Given the description of an element on the screen output the (x, y) to click on. 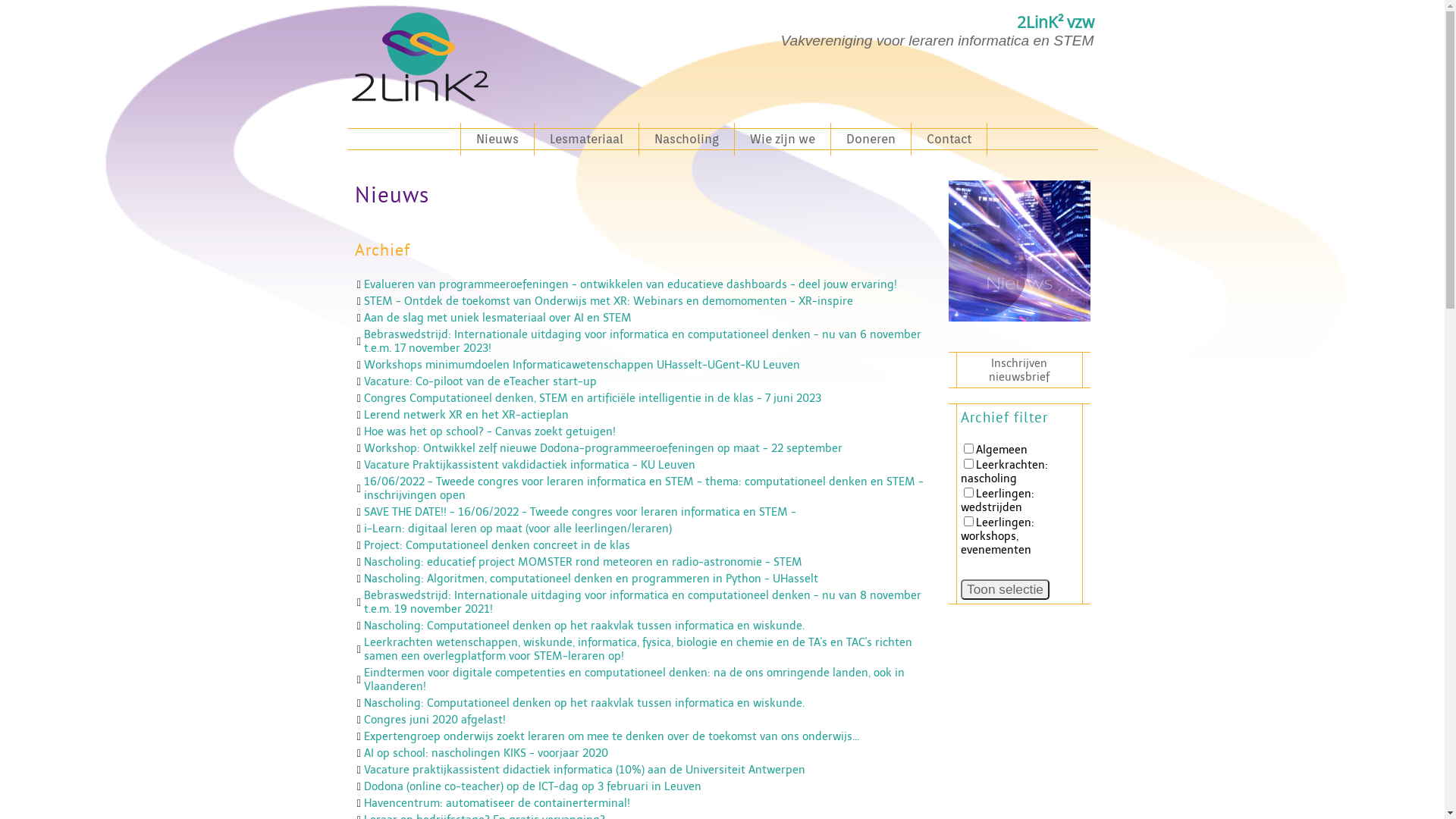
Inschrijven nieuwsbrief Element type: text (1019, 369)
Vacature: Co-piloot van de eTeacher start-up Element type: text (480, 381)
Project: Computationeel denken concreet in de klas Element type: text (497, 545)
Contact Element type: text (948, 138)
Lesmateriaal Element type: text (585, 138)
Nascholing Element type: text (686, 138)
Lerend netwerk XR en het XR-actieplan Element type: text (466, 414)
Aan de slag met uniek lesmateriaal over AI en STEM Element type: text (497, 317)
Doneren Element type: text (870, 138)
Nieuws Element type: text (496, 138)
Havencentrum: automatiseer de containerterminal! Element type: text (497, 802)
Congres juni 2020 afgelast! Element type: text (434, 719)
AI op school: nascholingen KIKS - voorjaar 2020 Element type: text (486, 752)
Toon selectie Element type: text (1004, 589)
Wie zijn we Element type: text (782, 138)
Hoe was het op school? - Canvas zoekt getuigen! Element type: text (489, 431)
